Given the description of an element on the screen output the (x, y) to click on. 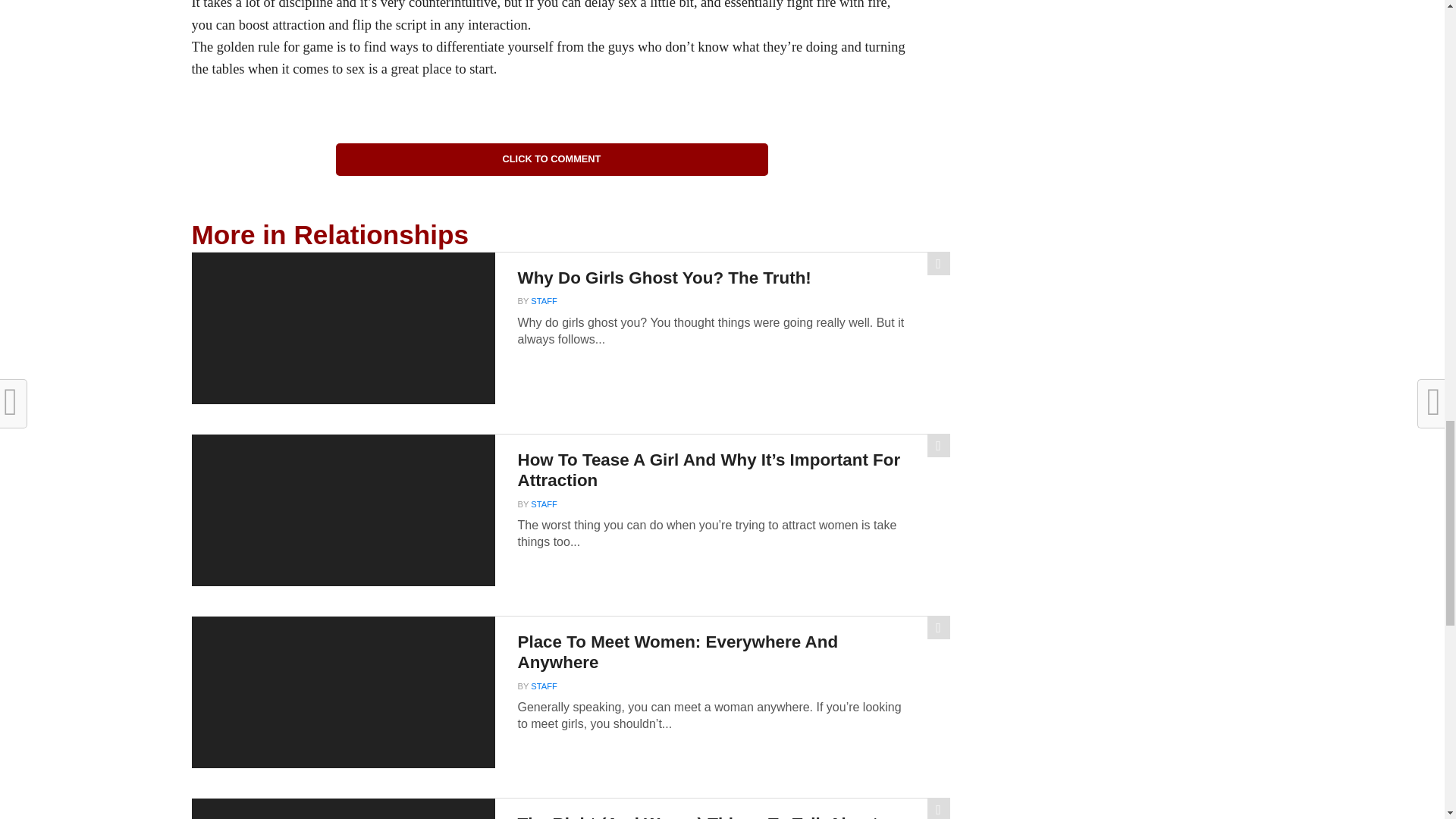
Posts by Staff (544, 686)
STAFF (544, 300)
Posts by Staff (544, 503)
Posts by Staff (544, 300)
